Given the description of an element on the screen output the (x, y) to click on. 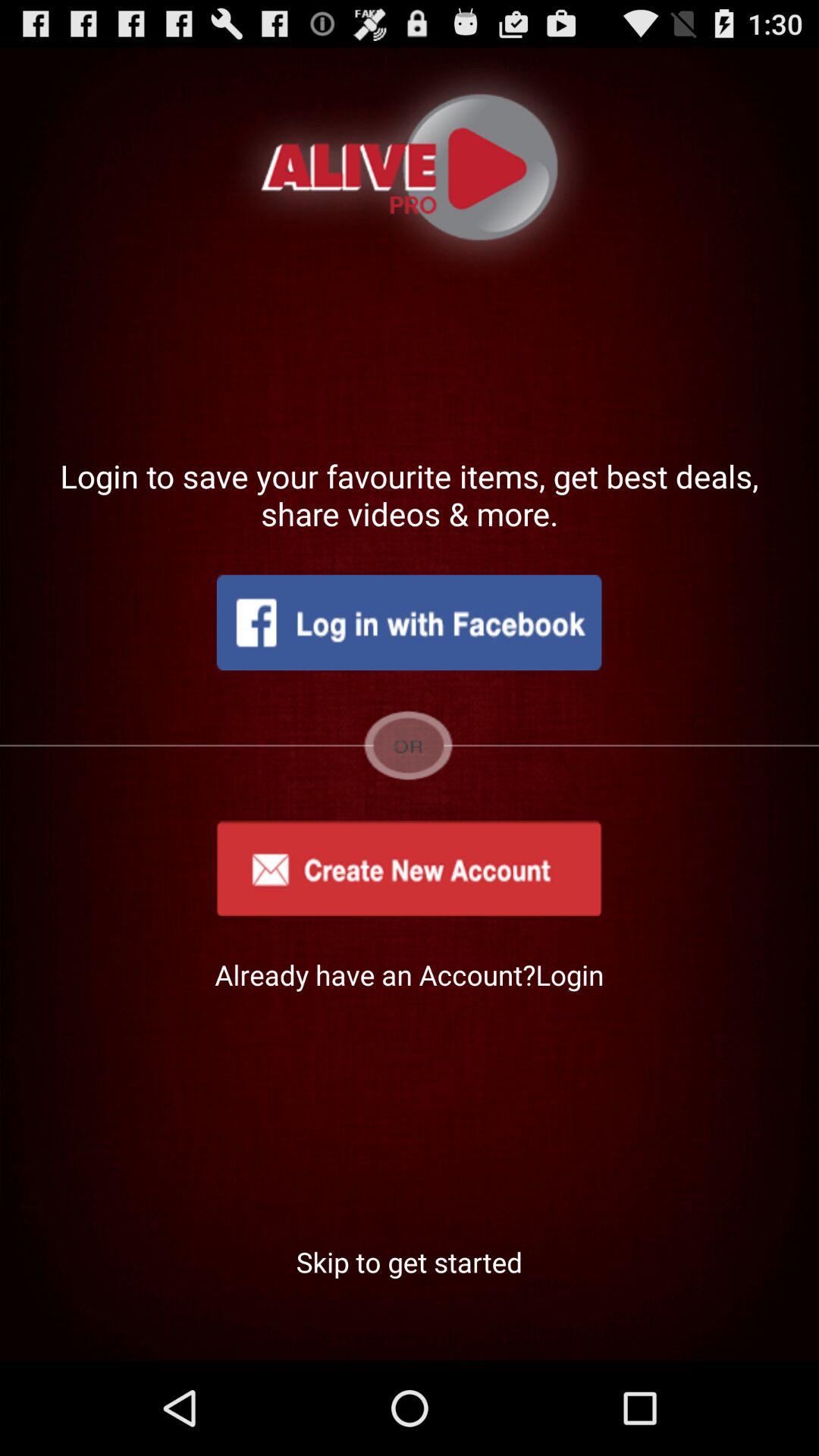
sign in with fb (408, 622)
